Given the description of an element on the screen output the (x, y) to click on. 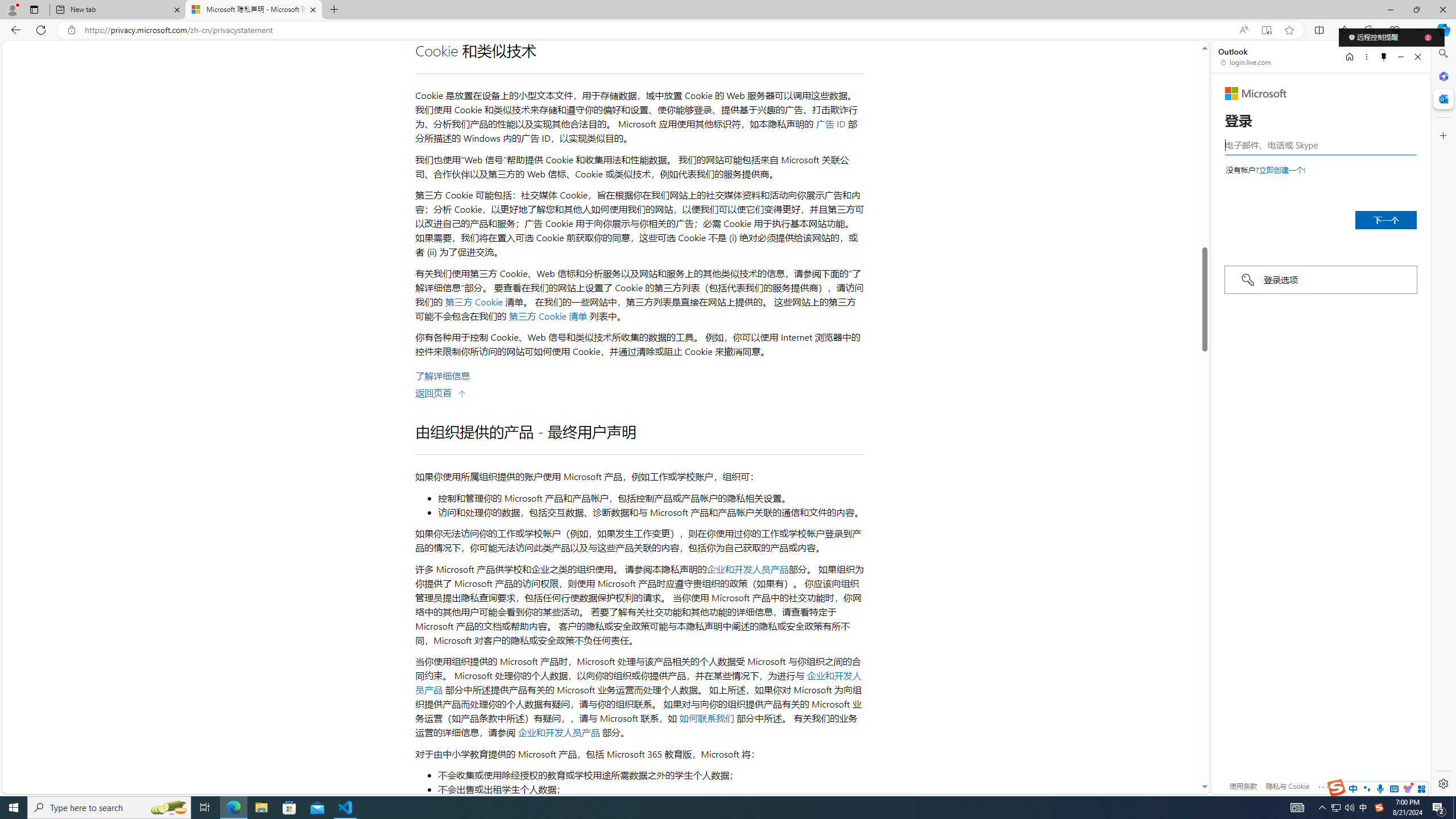
login.live.com (1246, 61)
